Given the description of an element on the screen output the (x, y) to click on. 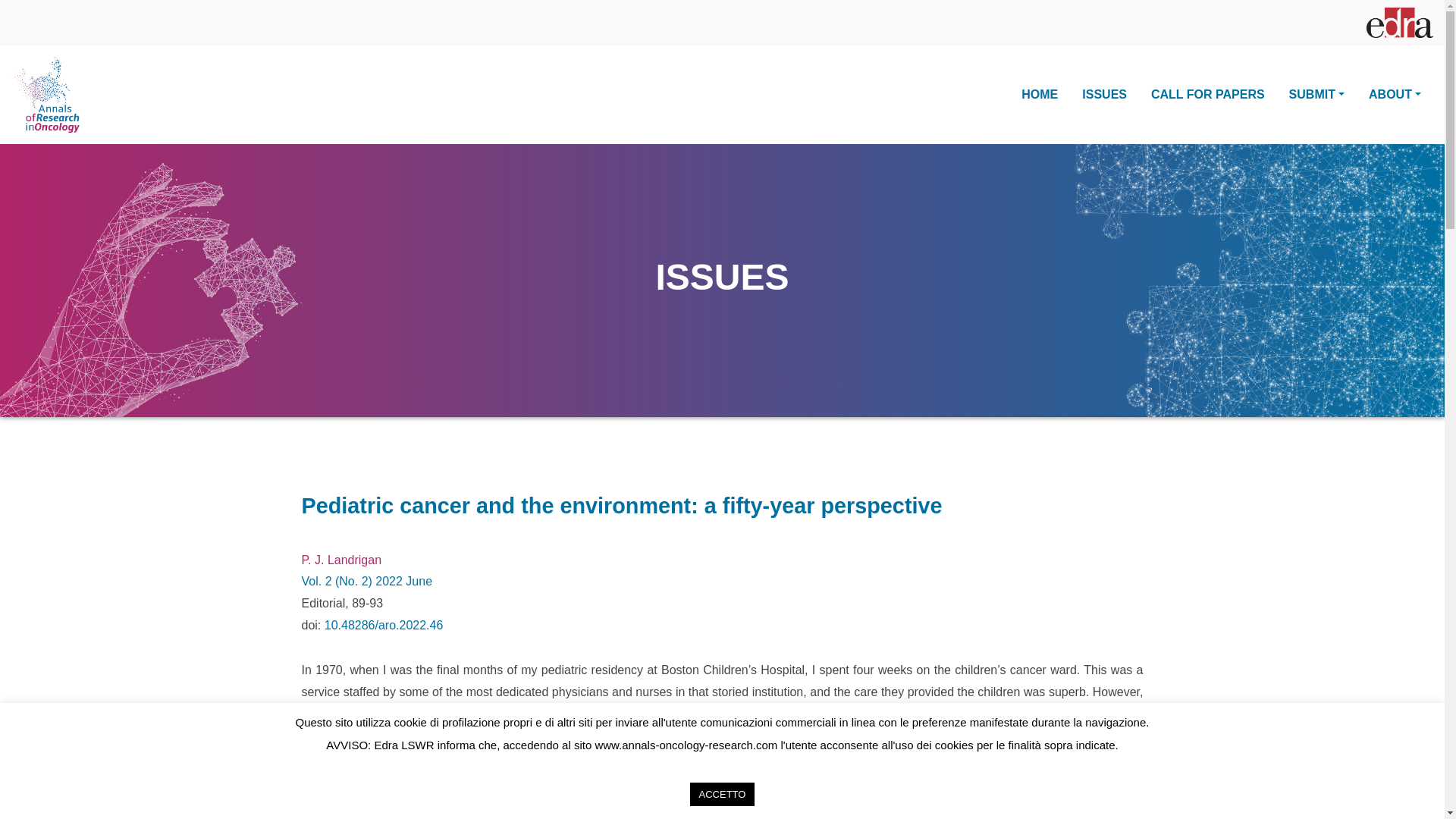
SUBMIT (1316, 95)
ISSUES (1104, 95)
HOME (1039, 95)
ABOUT (1394, 95)
CALL FOR PAPERS (1208, 95)
